Given the description of an element on the screen output the (x, y) to click on. 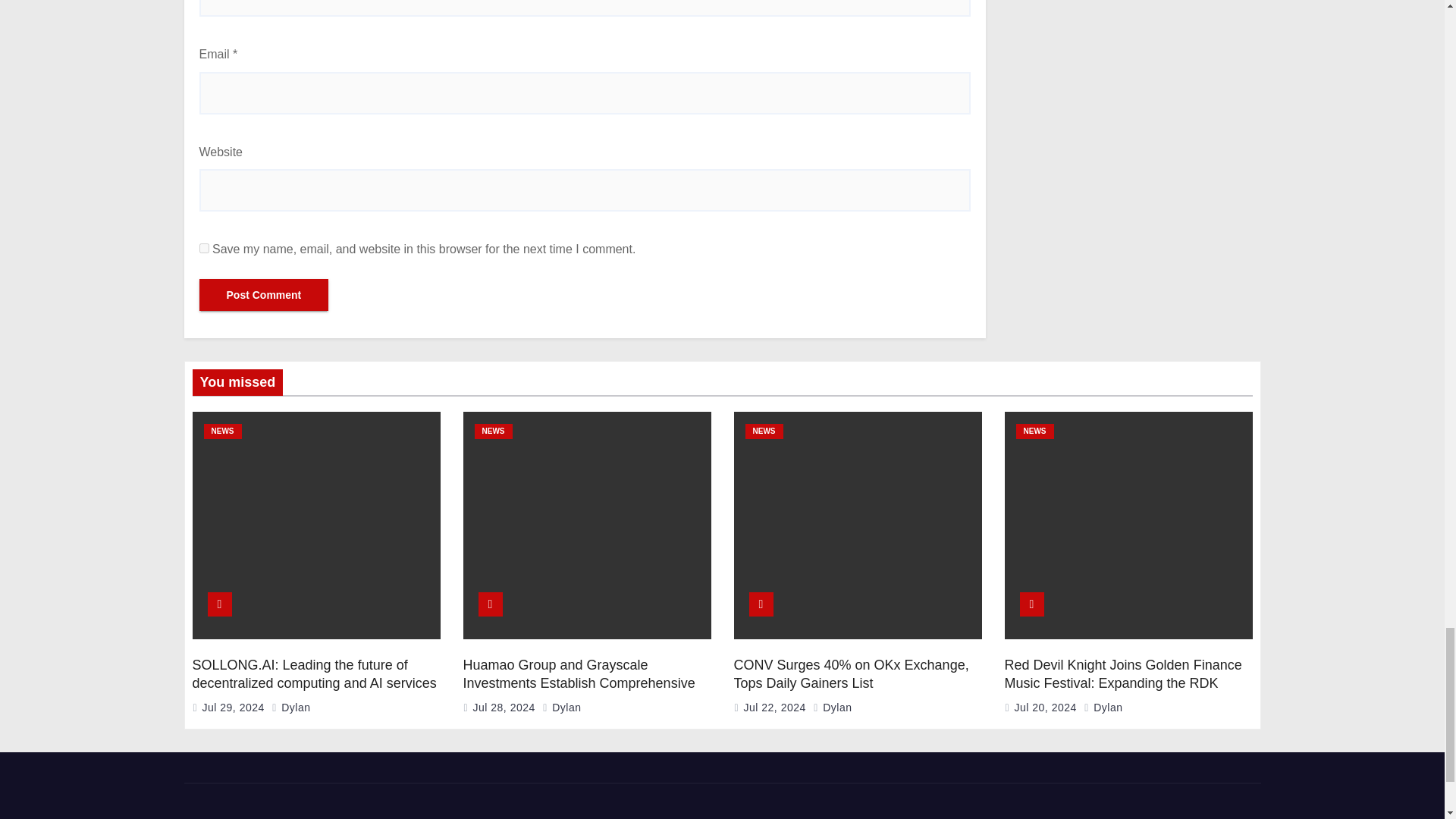
Post Comment (263, 295)
yes (203, 248)
